Given the description of an element on the screen output the (x, y) to click on. 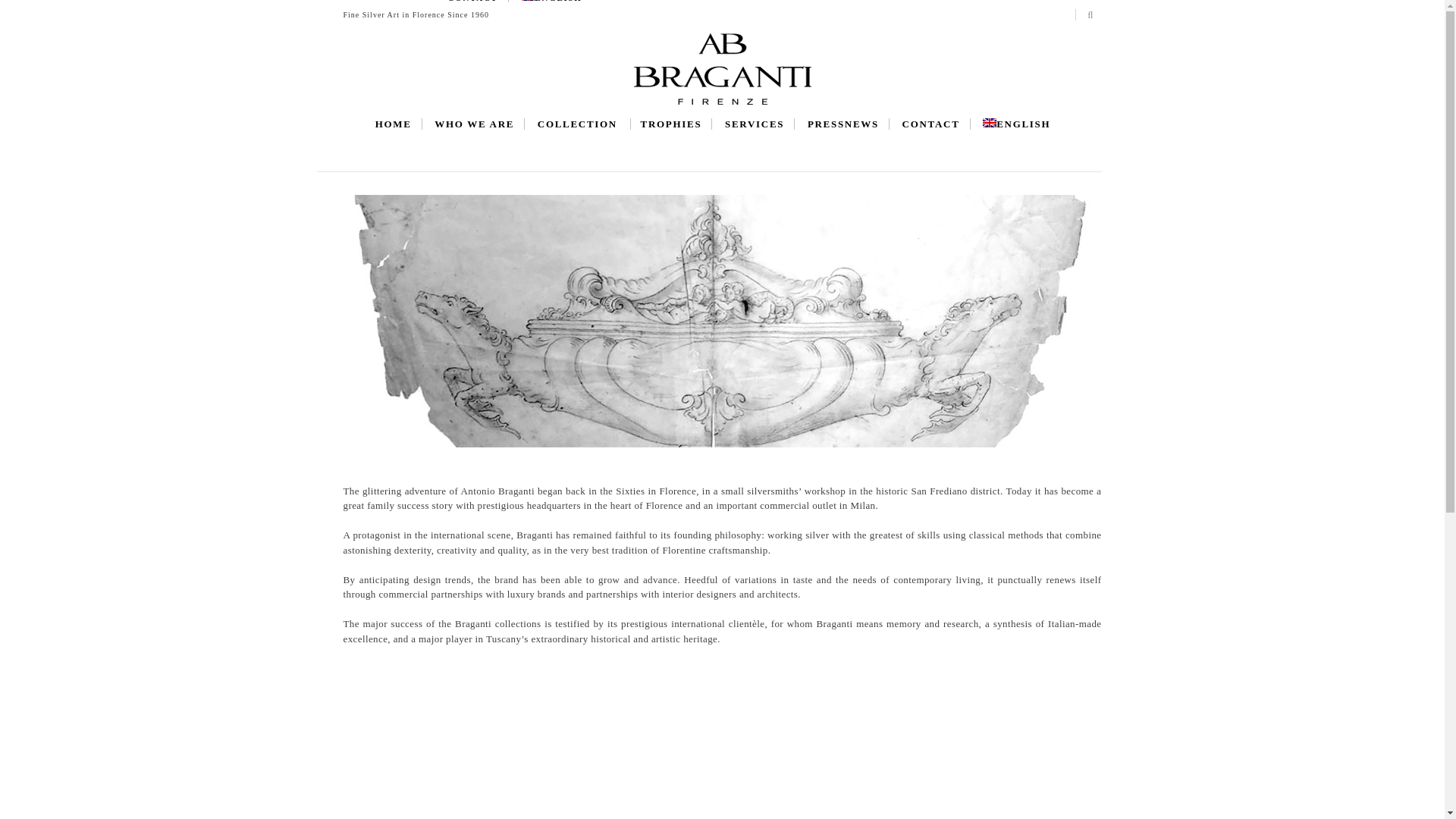
SERVICES (754, 123)
PRESSNEWS (843, 123)
HOME (393, 123)
CONTACT (930, 123)
WHO WE ARE (473, 123)
TROPHIES (670, 123)
English (551, 1)
COLLECTION (577, 123)
